Given the description of an element on the screen output the (x, y) to click on. 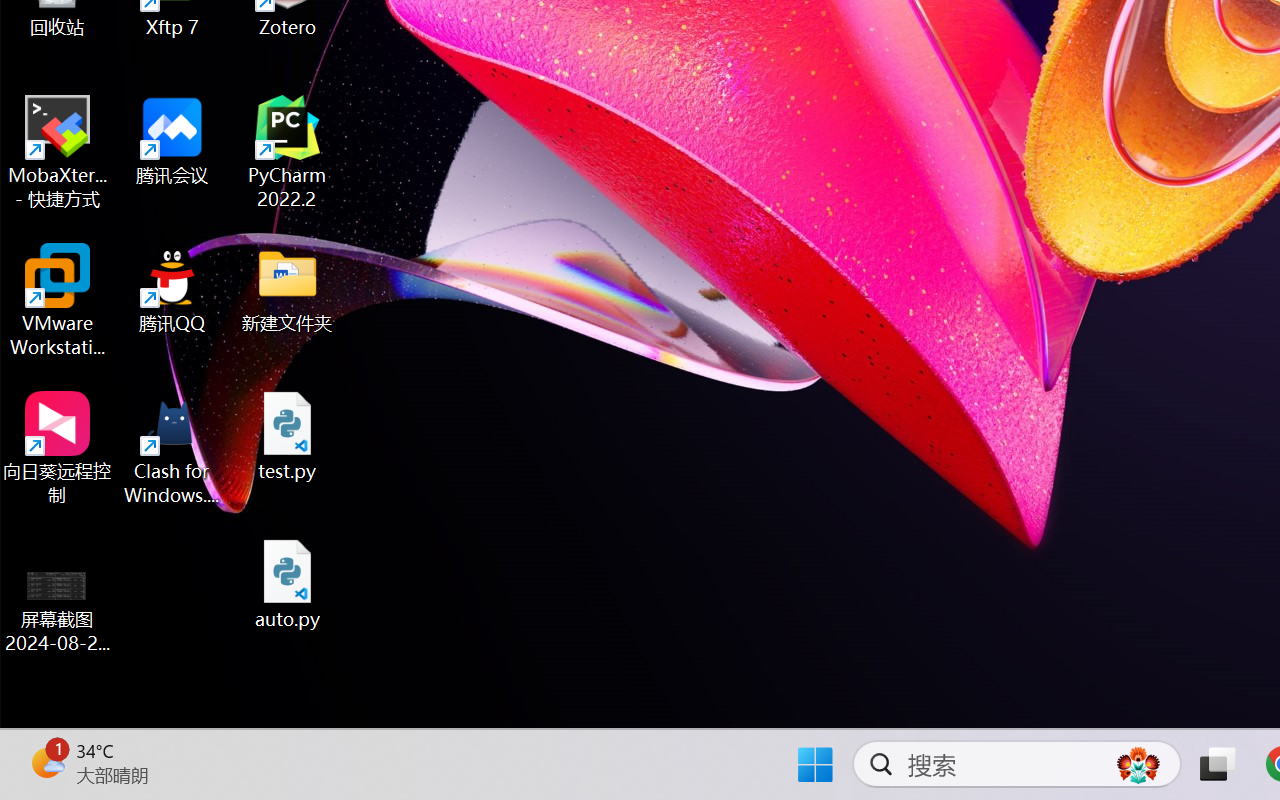
VMware Workstation Pro (57, 300)
auto.py (287, 584)
